Given the description of an element on the screen output the (x, y) to click on. 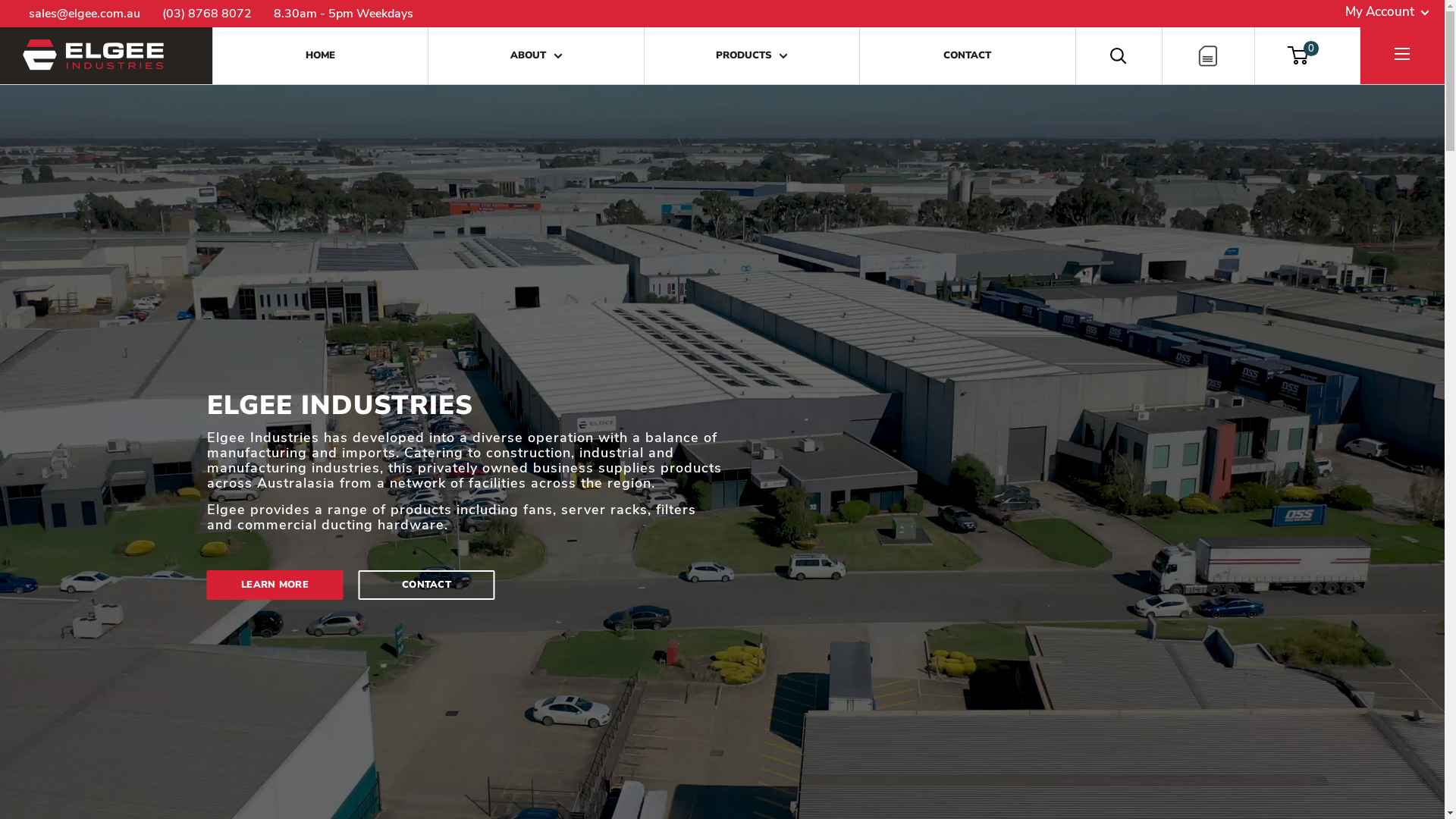
HOME Element type: text (320, 55)
ABOUT Element type: text (535, 55)
(03) 8768 8072 Element type: text (206, 13)
PRODUCTS Element type: text (751, 55)
My Account Element type: text (1387, 12)
ELGEE INDUSTRIES Element type: text (94, 55)
LEARN MORE Element type: text (274, 543)
CONTACT Element type: text (966, 55)
sales@elgee.com.au Element type: text (84, 13)
CONTACT Element type: text (425, 543)
0 Element type: text (1307, 55)
